Given the description of an element on the screen output the (x, y) to click on. 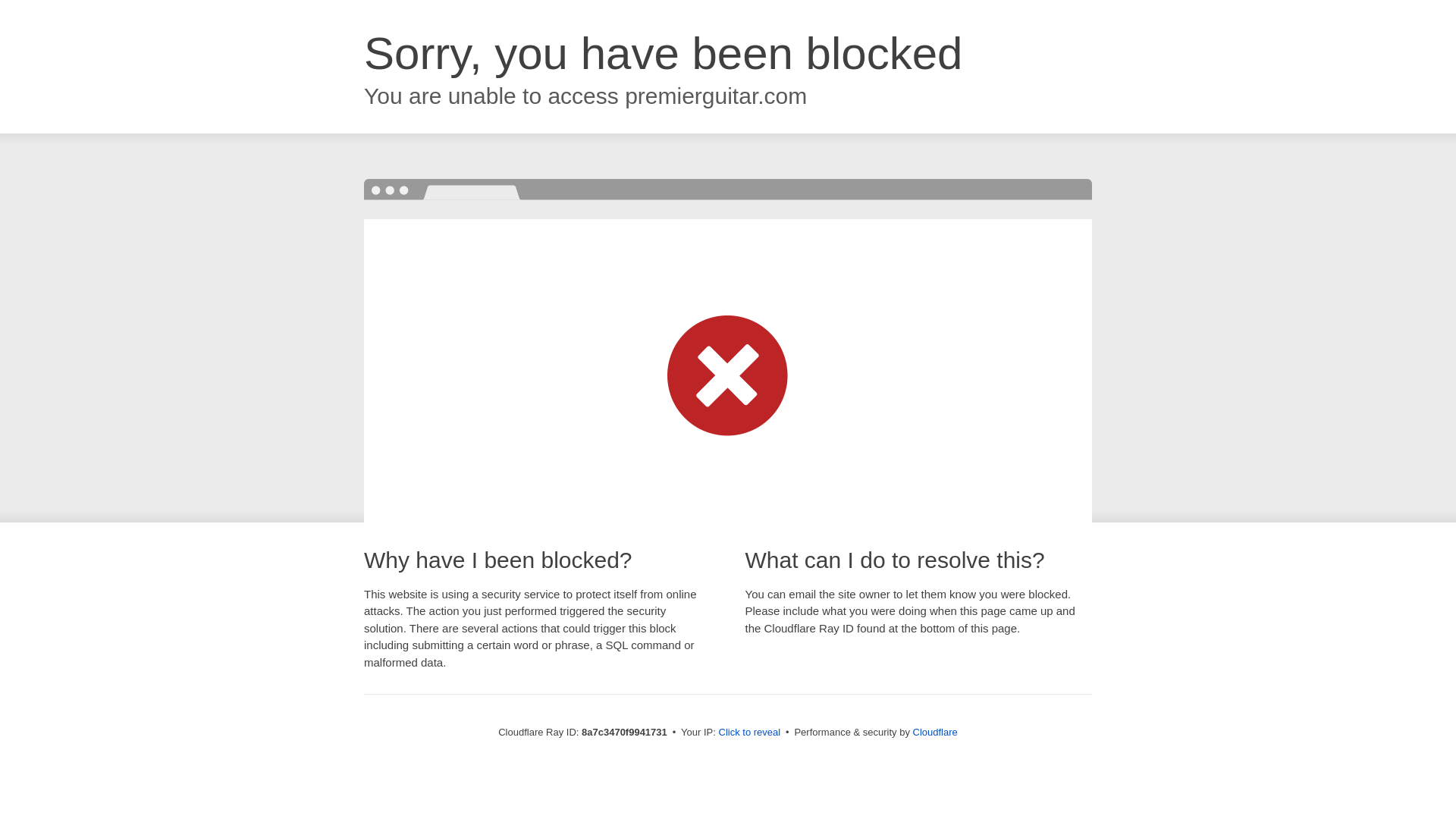
Cloudflare (935, 731)
Click to reveal (749, 732)
